Given the description of an element on the screen output the (x, y) to click on. 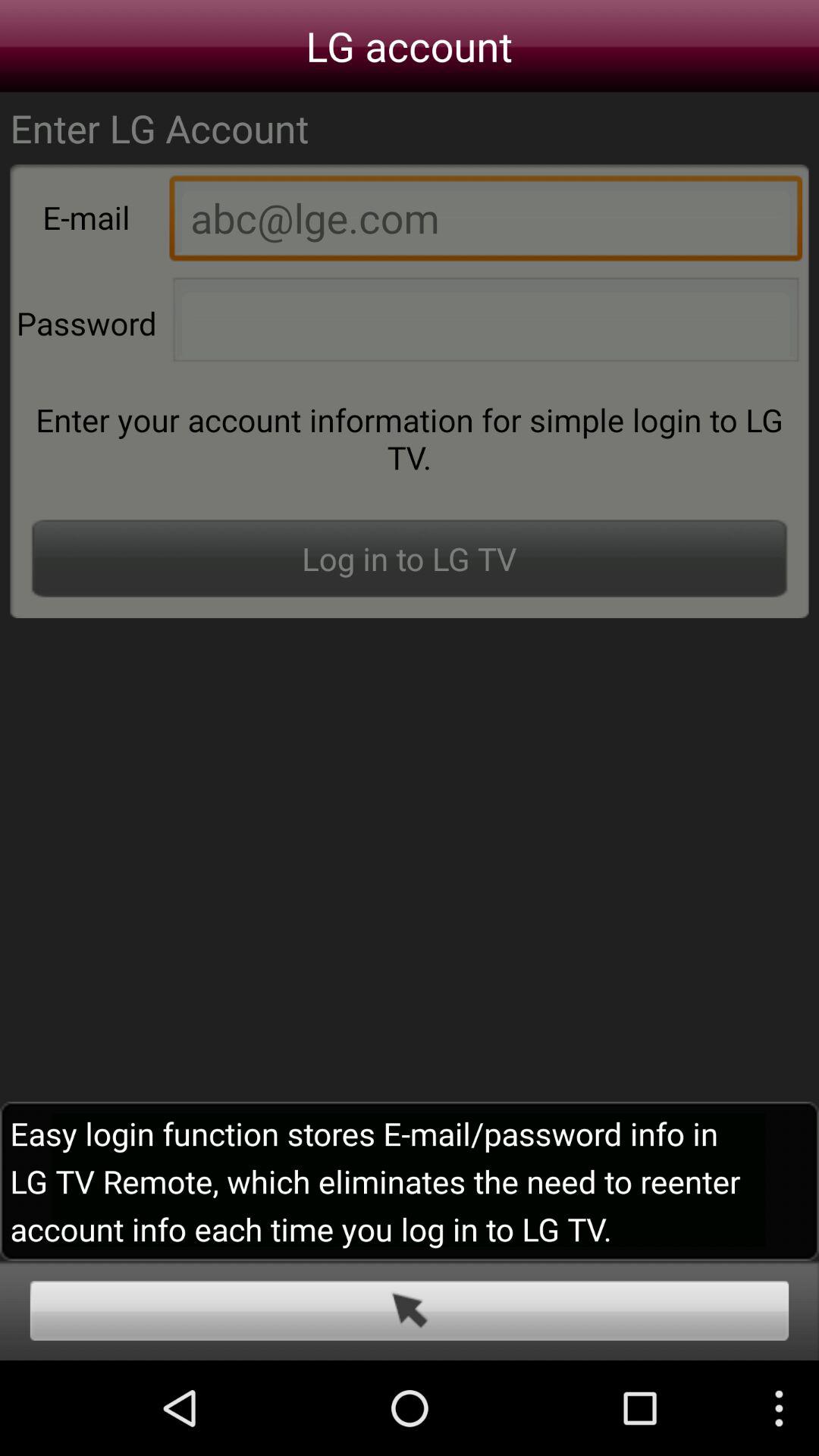
selection (409, 1310)
